Given the description of an element on the screen output the (x, y) to click on. 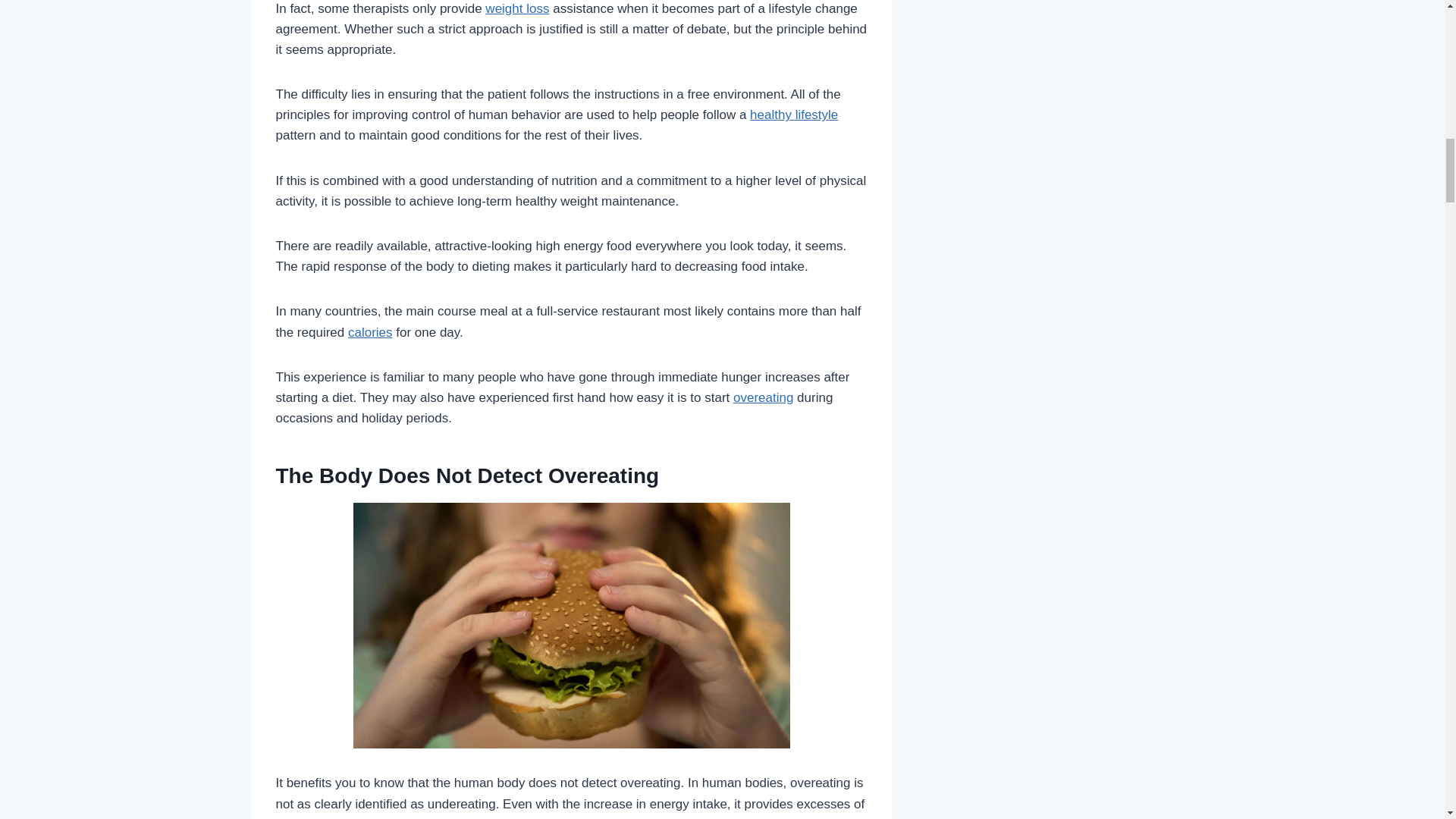
healthy lifestyle (793, 114)
Why Is it Hard To Maintain Weight Loss? 2 (571, 625)
calories (370, 332)
weight loss (516, 8)
overeating (763, 397)
